Given the description of an element on the screen output the (x, y) to click on. 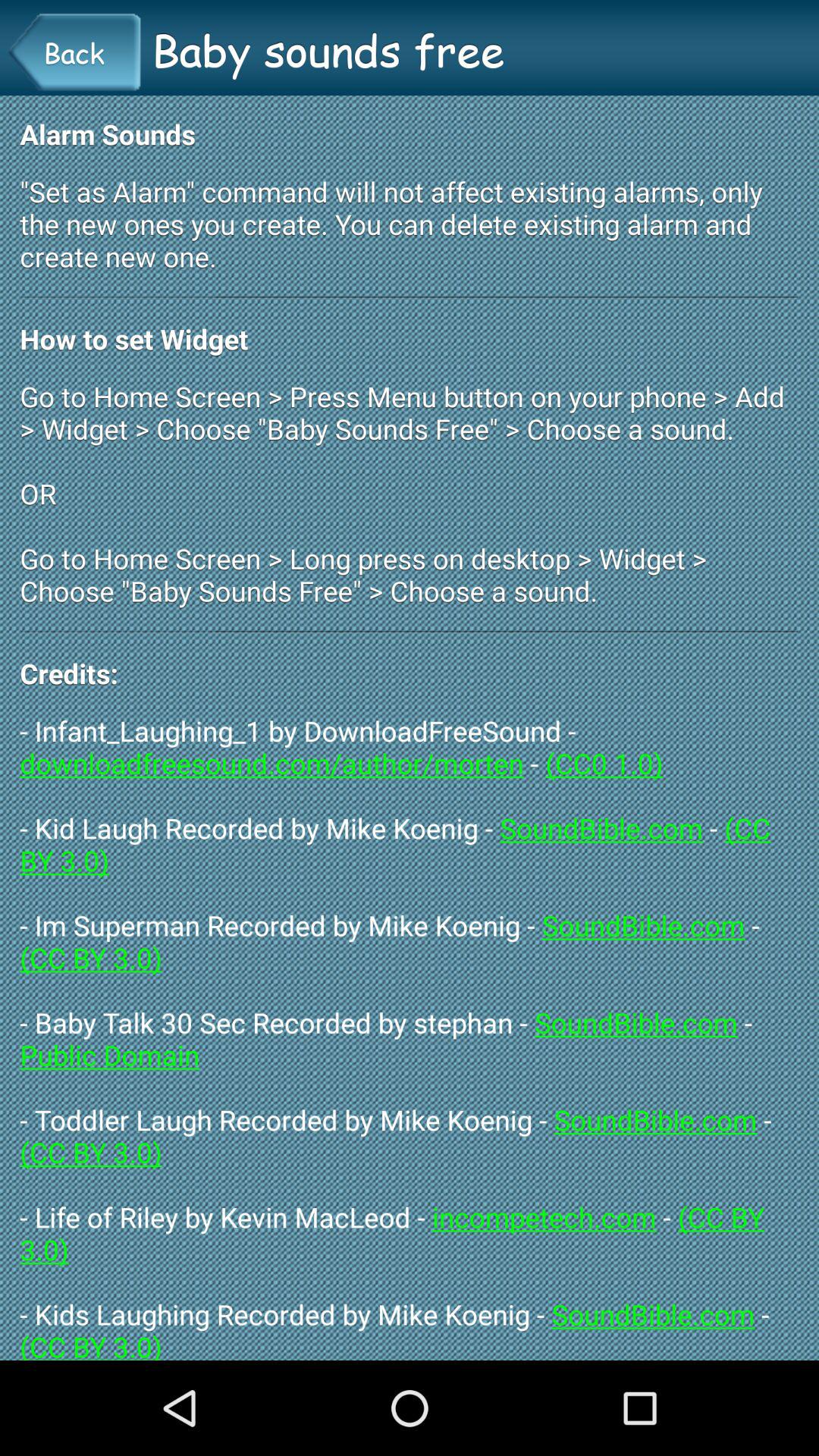
press item below credits: app (409, 1036)
